Given the description of an element on the screen output the (x, y) to click on. 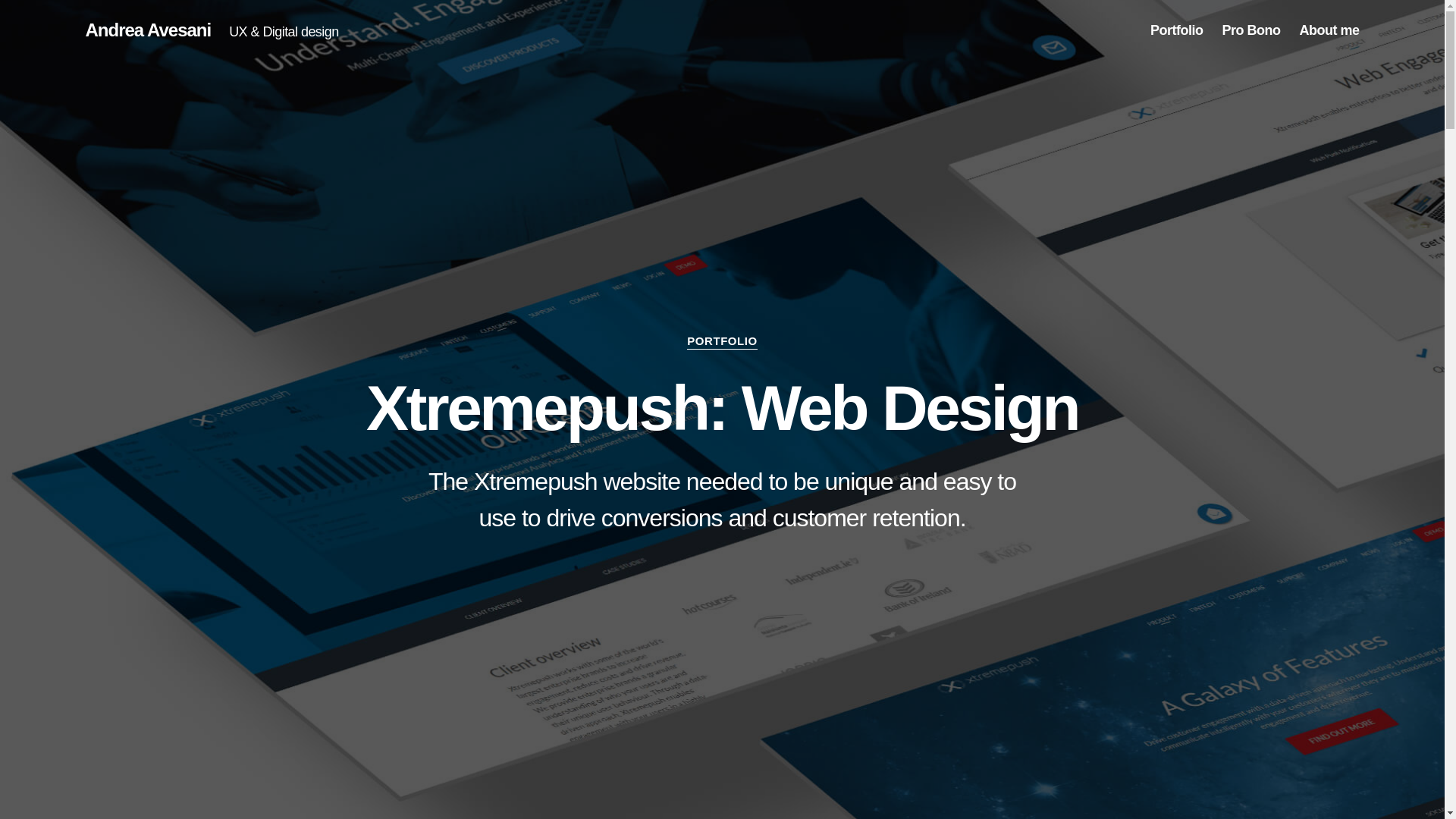
Portfolio (1177, 30)
Andrea Avesani (147, 30)
Pro Bono (1250, 30)
About me (1328, 30)
PORTFOLIO (722, 341)
